Given the description of an element on the screen output the (x, y) to click on. 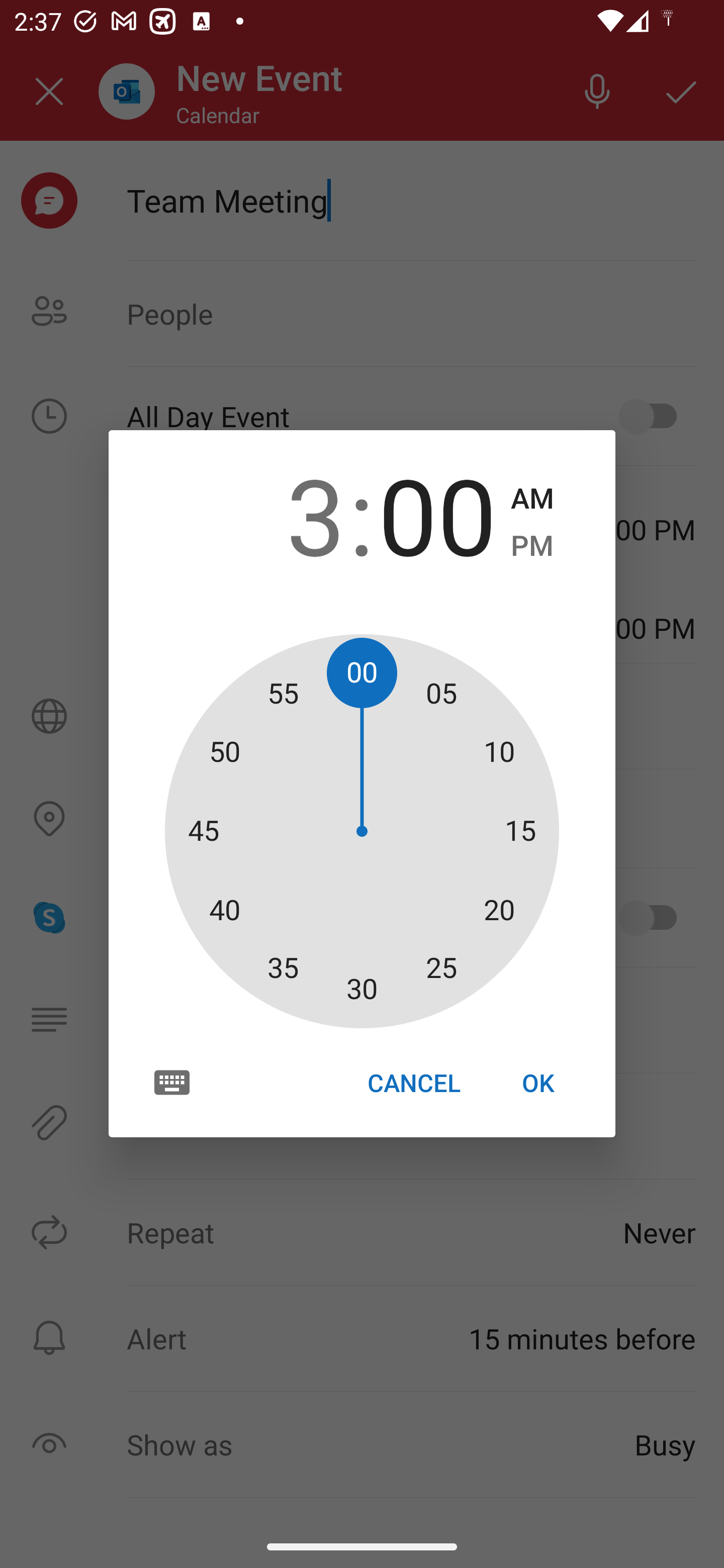
3 (285, 513)
00 (436, 513)
AM (532, 498)
PM (532, 546)
CANCEL (413, 1082)
OK (537, 1082)
Switch to text input mode for the time input. (171, 1081)
